Given the description of an element on the screen output the (x, y) to click on. 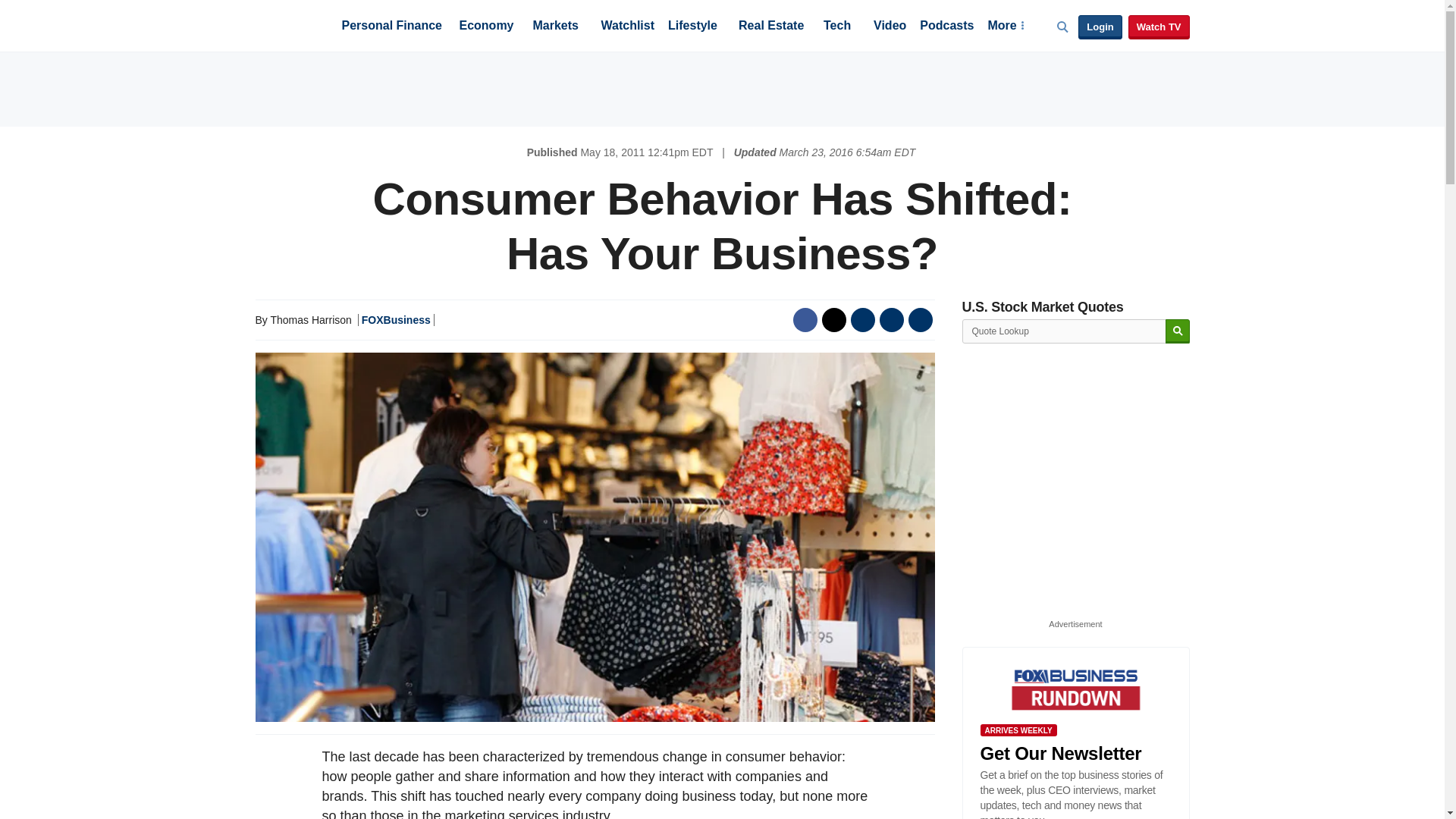
Tech (837, 27)
More (1005, 27)
Personal Finance (391, 27)
Search (1176, 331)
Video (889, 27)
Lifestyle (692, 27)
Search (1176, 331)
Fox Business (290, 24)
Real Estate (770, 27)
Login (1099, 27)
